Given the description of an element on the screen output the (x, y) to click on. 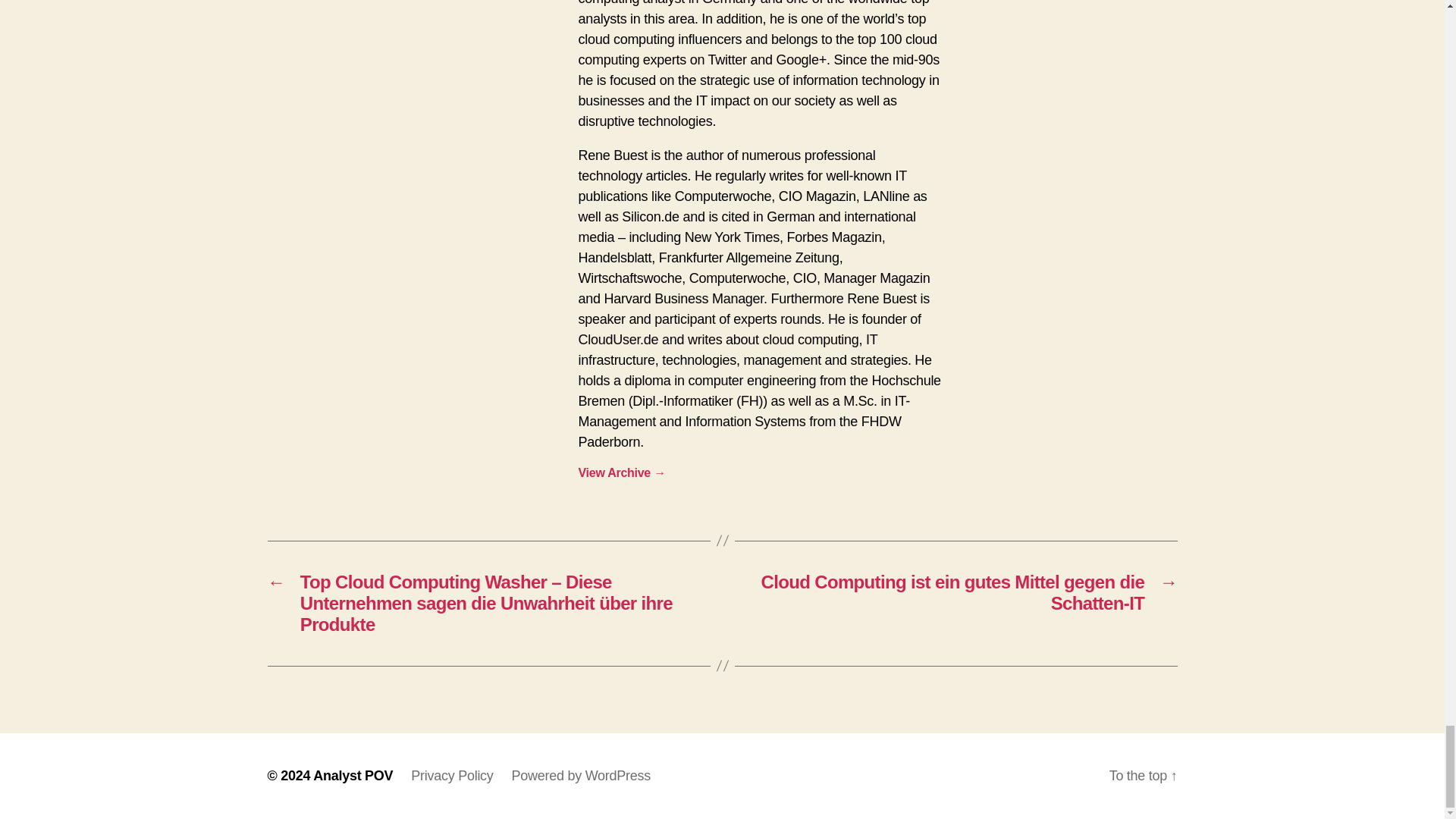
Privacy Policy (451, 775)
Analyst POV (353, 775)
Powered by WordPress (581, 775)
